Given the description of an element on the screen output the (x, y) to click on. 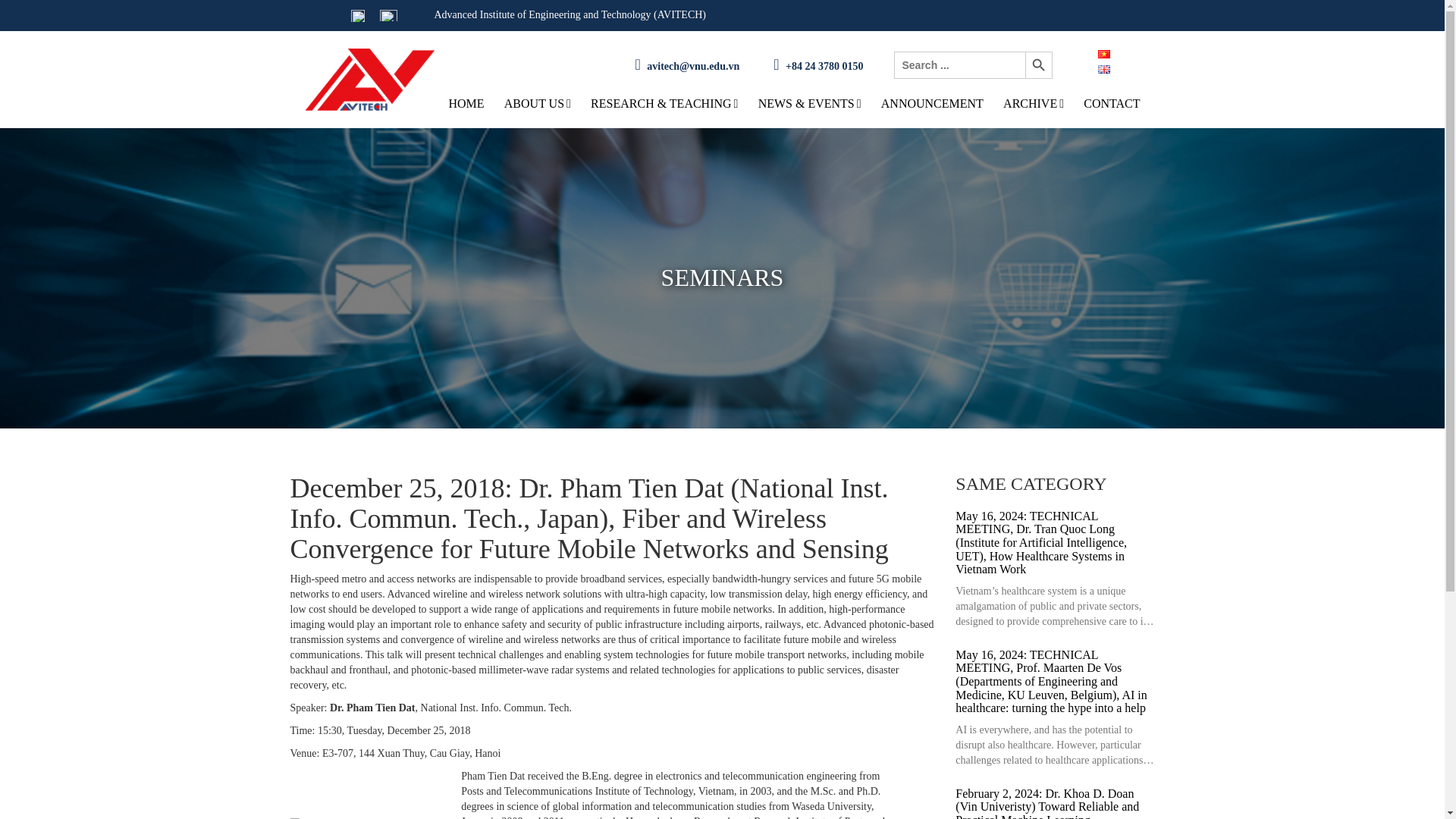
ABOUT US (536, 103)
ARCHIVE (1033, 103)
HOME (466, 103)
CONTACT (1111, 103)
ANNOUNCEMENT (932, 103)
